Given the description of an element on the screen output the (x, y) to click on. 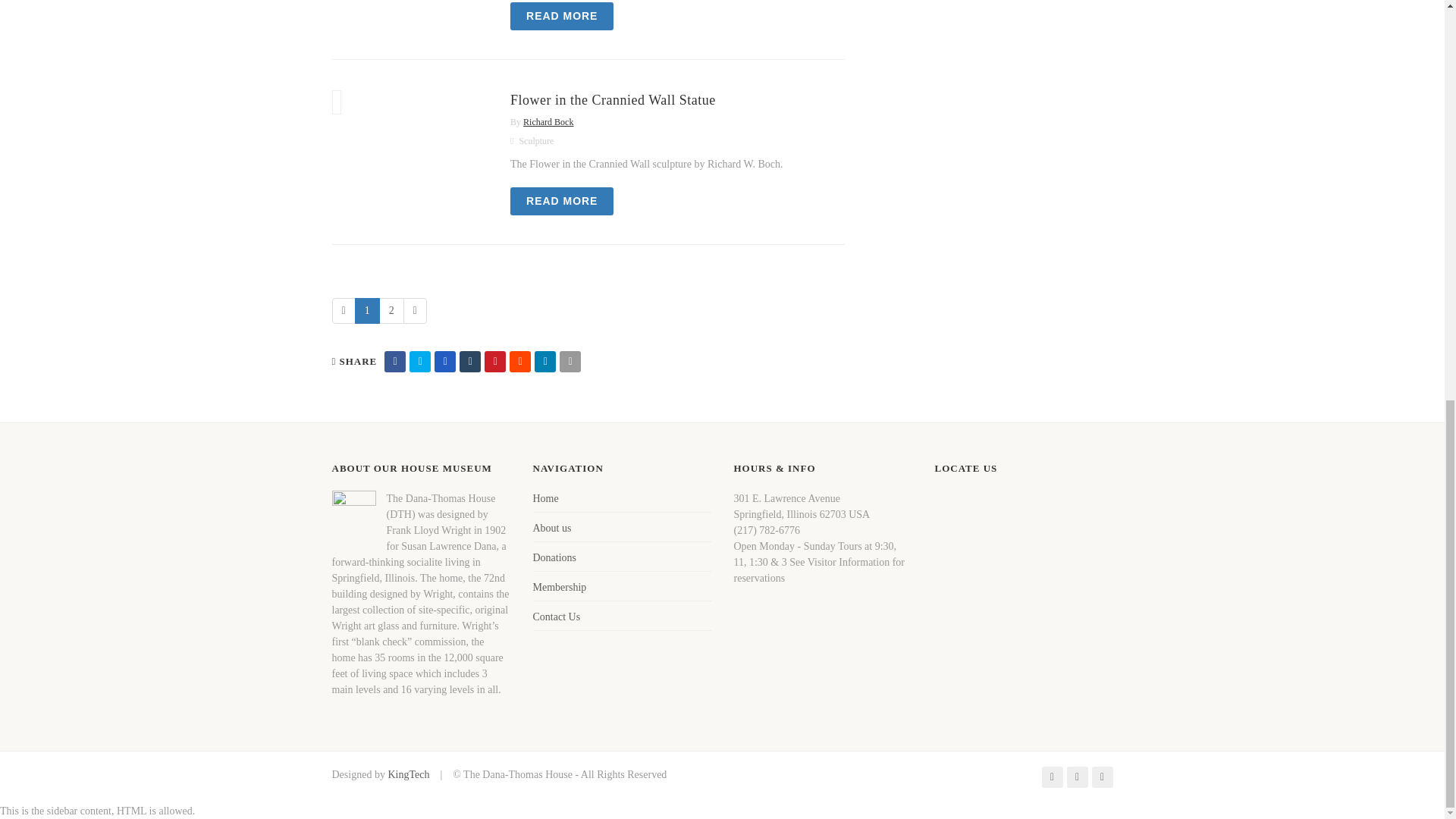
First (343, 310)
Share on Facebook (395, 361)
Share on Linkedin (545, 361)
Tweet (419, 361)
Email (569, 361)
Last (414, 310)
Pin it (494, 361)
Post to Tumblr (470, 361)
Submit to Reddit (520, 361)
